Given the description of an element on the screen output the (x, y) to click on. 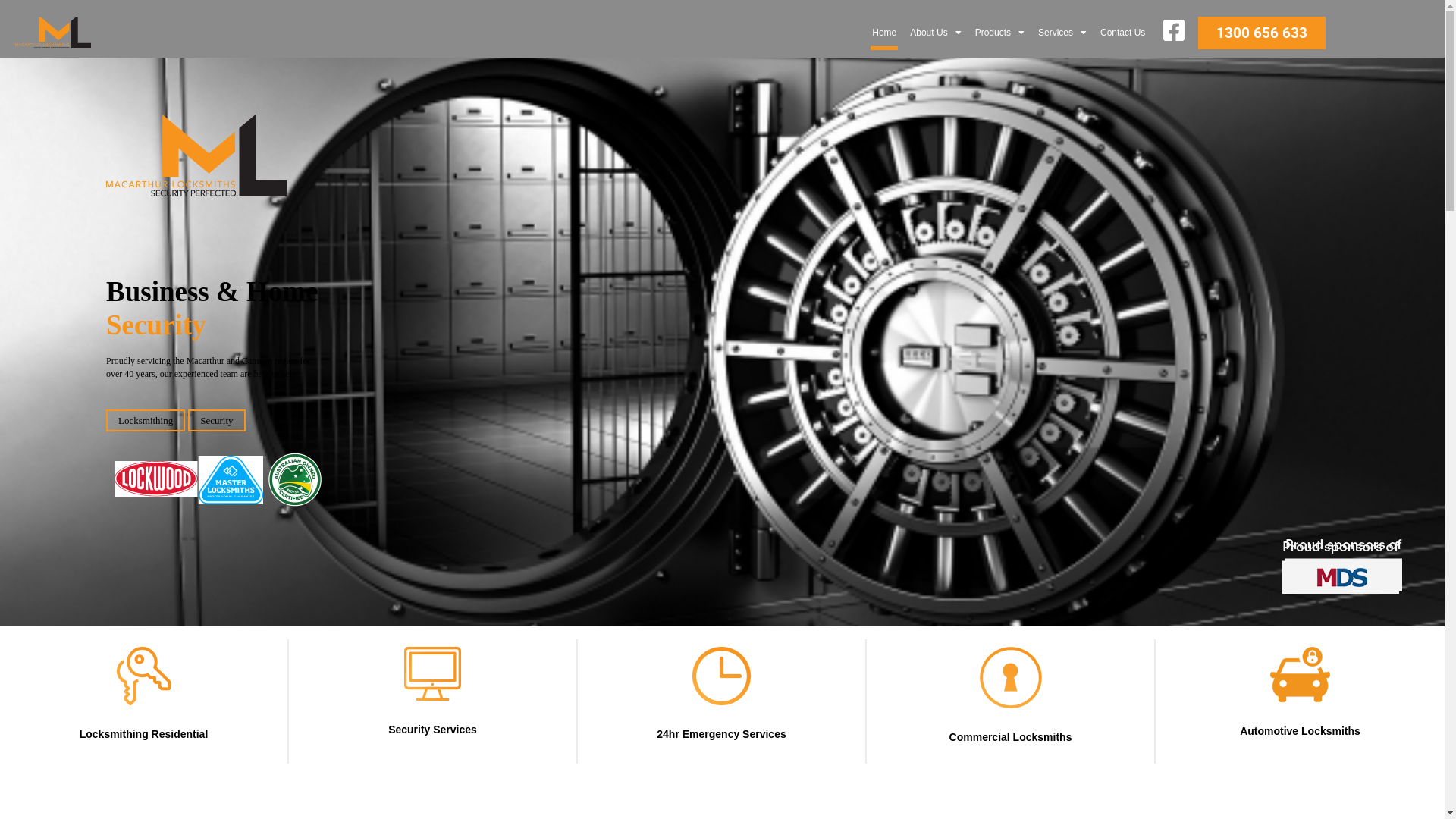
Contact Us Element type: text (1122, 32)
site-logo Element type: hover (53, 32)
Home Element type: text (883, 32)
Automotive Locksmiths Element type: text (1299, 730)
Locksmithing Residential Element type: text (143, 734)
Security Element type: text (216, 420)
Products Element type: text (999, 32)
About Us Element type: text (935, 32)
Commercial Locksmiths Element type: text (1010, 737)
Services Element type: text (1062, 32)
1300 656 633 Element type: text (1261, 32)
24hr Emergency Services Element type: text (720, 734)
Security Services Element type: text (432, 729)
Locksmithing Element type: text (145, 420)
